Given the description of an element on the screen output the (x, y) to click on. 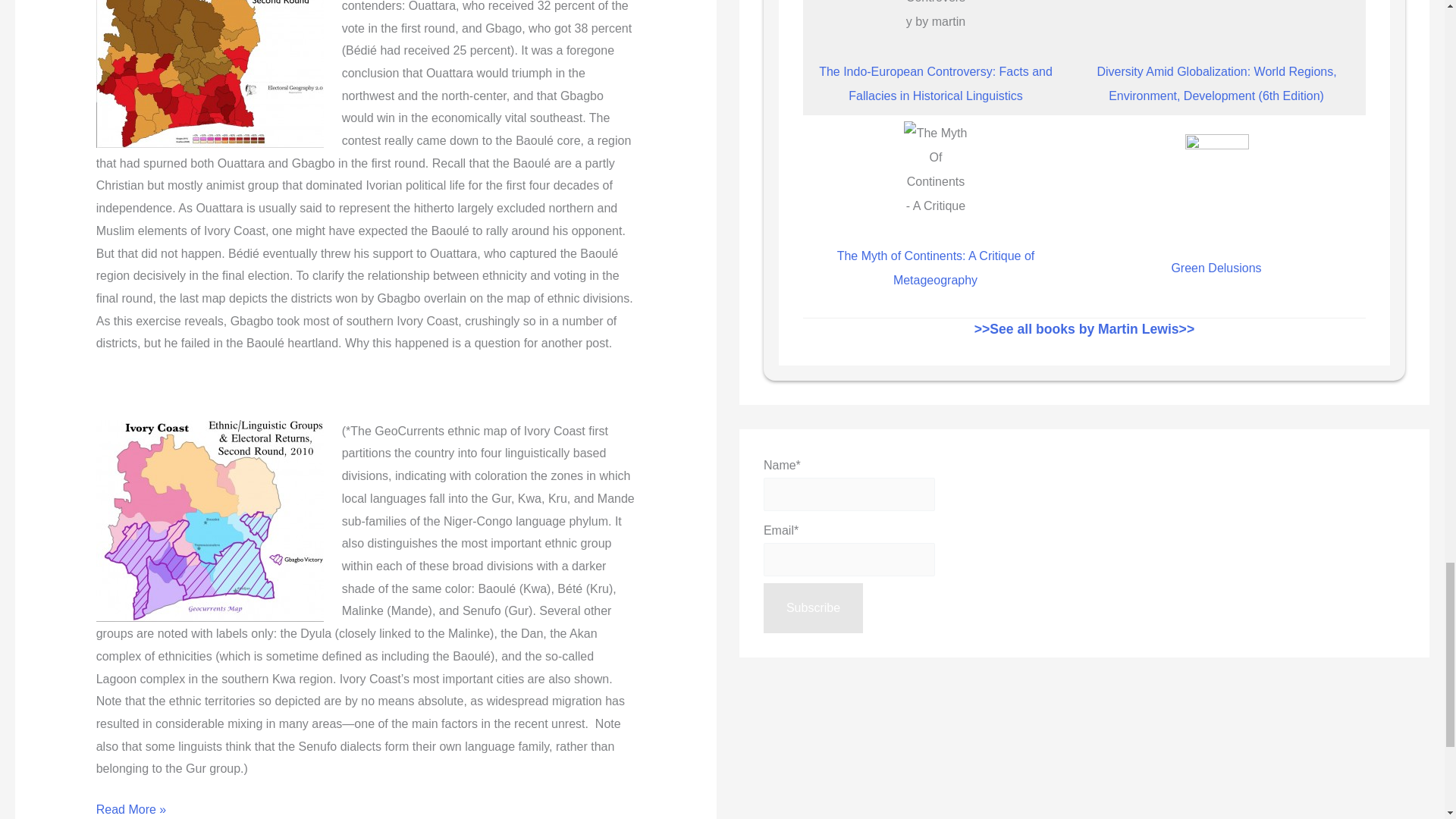
Ivory-Coast-election2-map (209, 74)
Subscribe (812, 608)
Indo-European-Controversy by Asya Pereltsvaig Martin Lewis (935, 18)
diversity amid globalization martin lewis (1216, 18)
Ivory-Coast-ethnic-election2-map (209, 520)
